Given the description of an element on the screen output the (x, y) to click on. 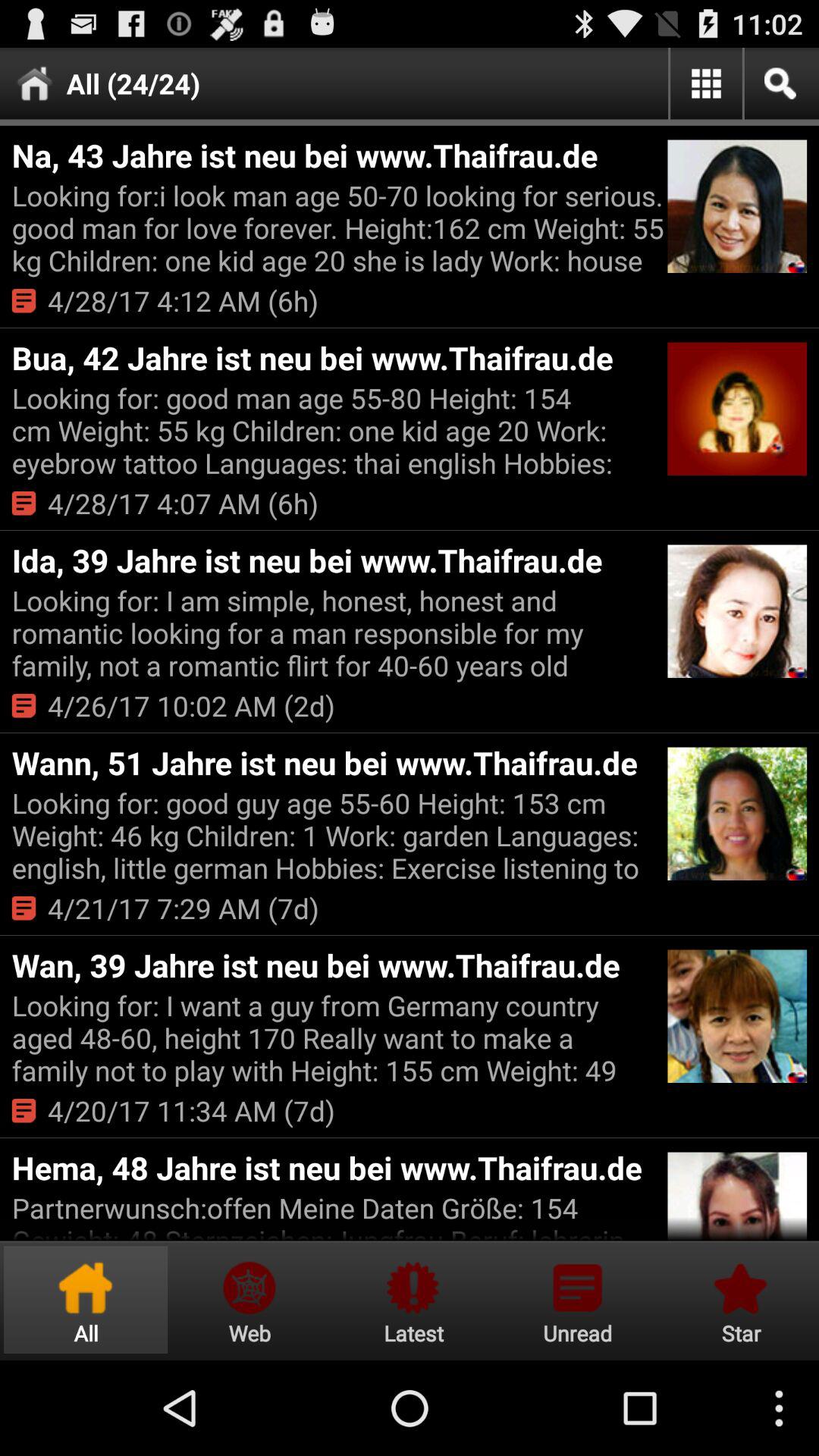
click the item below 4 26 17 app (337, 762)
